Given the description of an element on the screen output the (x, y) to click on. 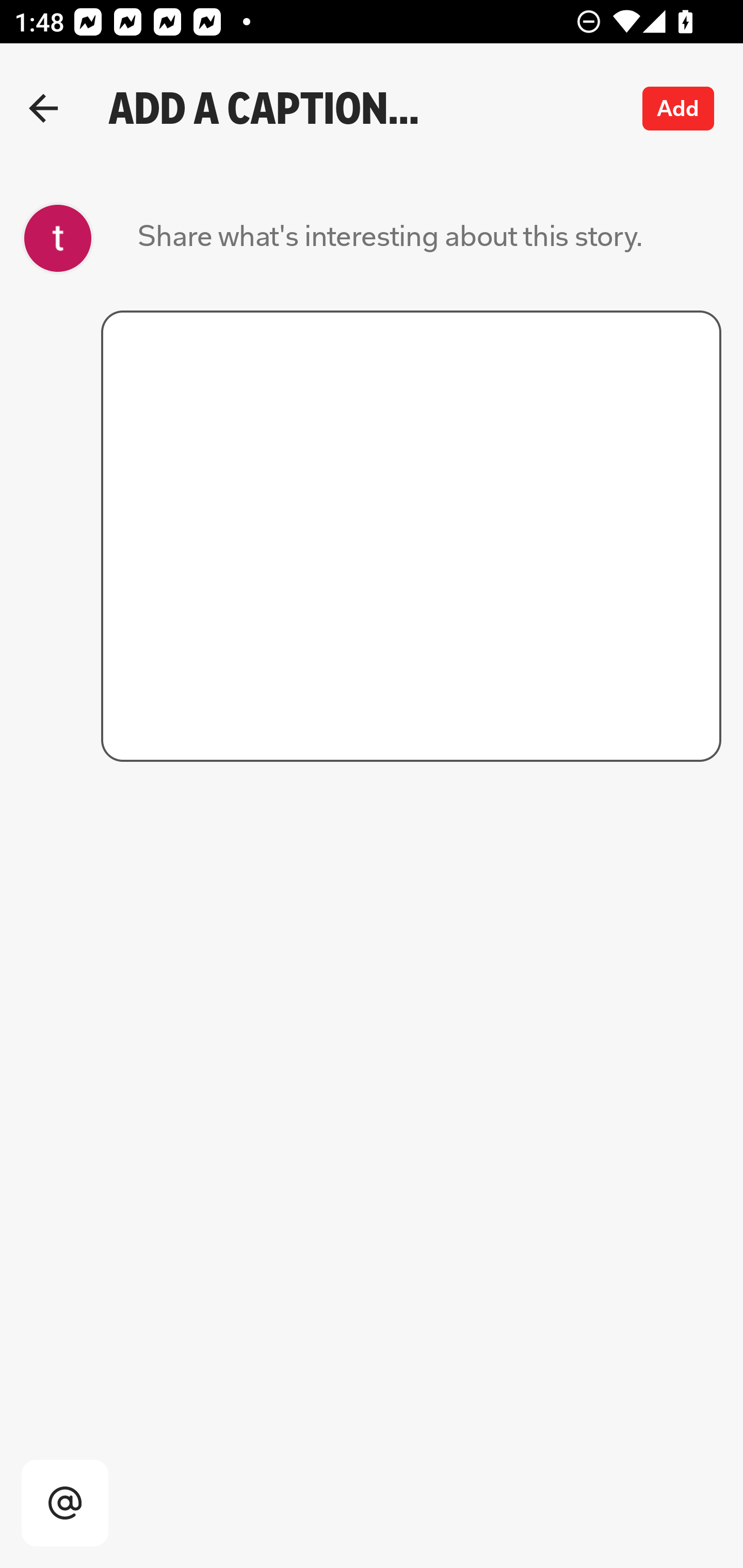
Add (678, 108)
Share what's interesting about this story. (390, 238)
